Given the description of an element on the screen output the (x, y) to click on. 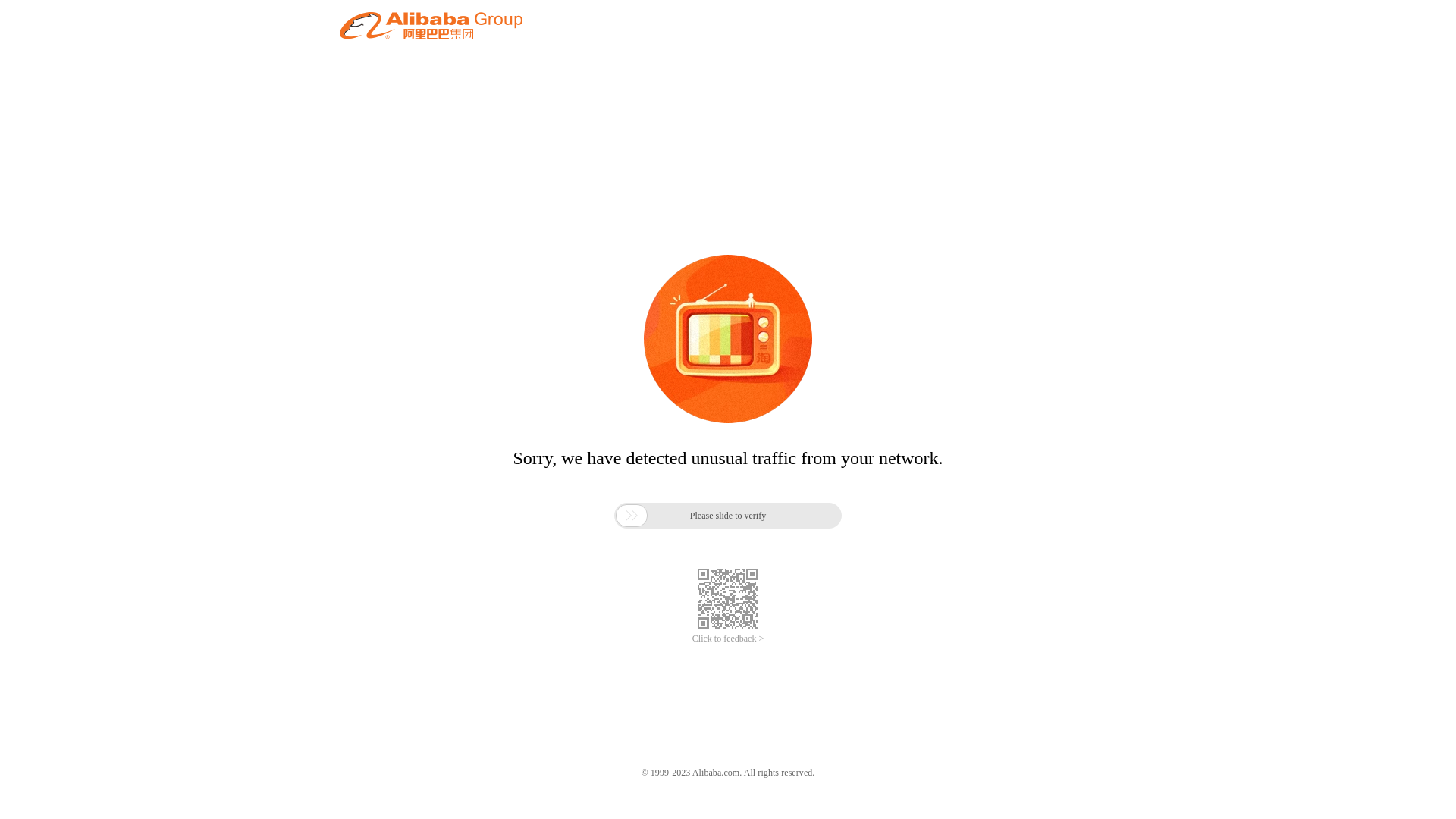
Click to feedback > Element type: text (727, 638)
